Given the description of an element on the screen output the (x, y) to click on. 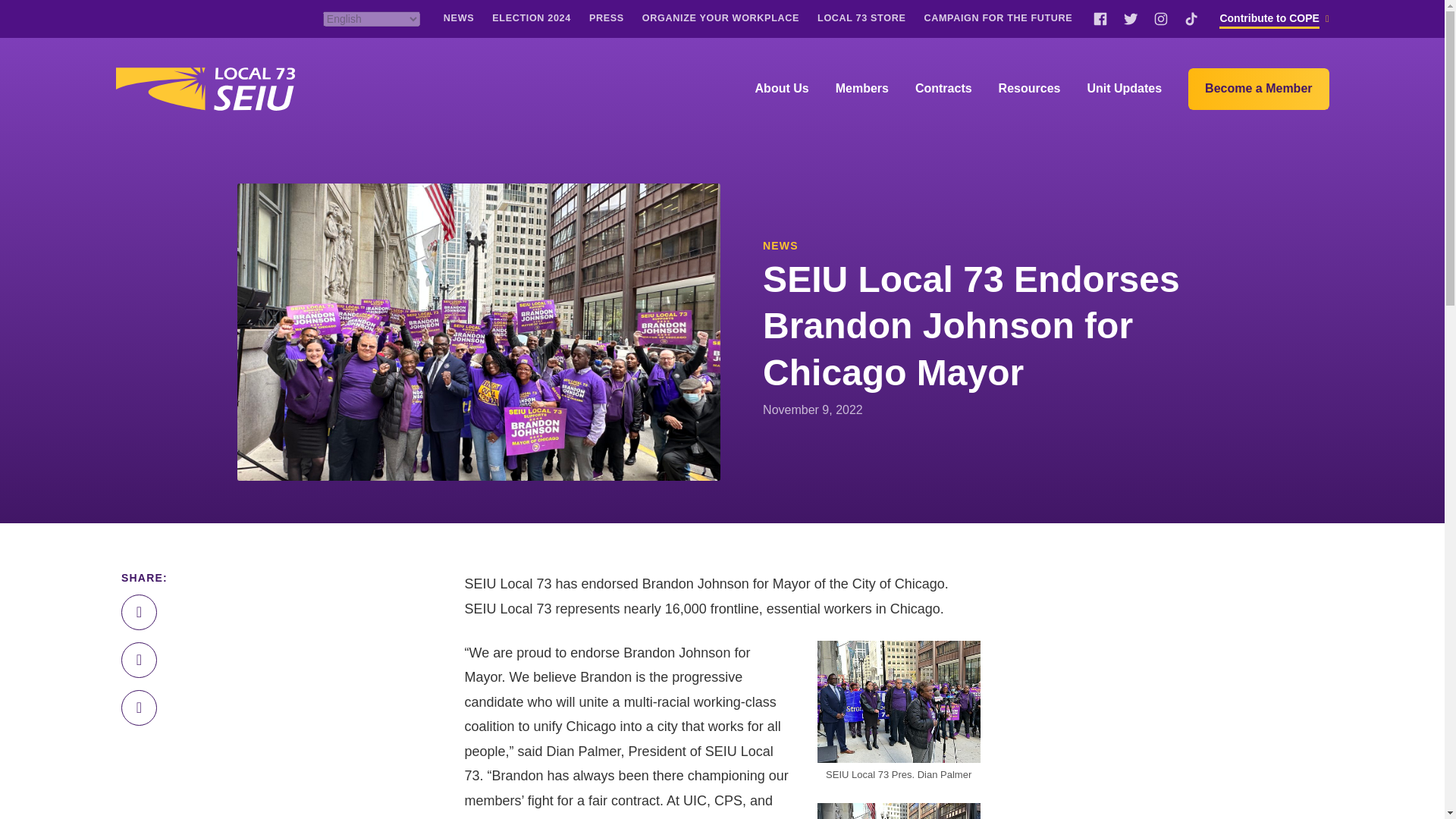
Contribute to COPE (1269, 18)
LOCAL 73 STORE (860, 18)
CAMPAIGN FOR THE FUTURE (997, 18)
ELECTION 2024 (531, 18)
ORGANIZE YOUR WORKPLACE (720, 18)
Contracts (943, 89)
NEWS (459, 18)
PRESS (606, 18)
Unit Updates (1123, 89)
About Us (782, 89)
Members (861, 89)
Resources (1029, 89)
SEIU Local 73 (204, 88)
